Given the description of an element on the screen output the (x, y) to click on. 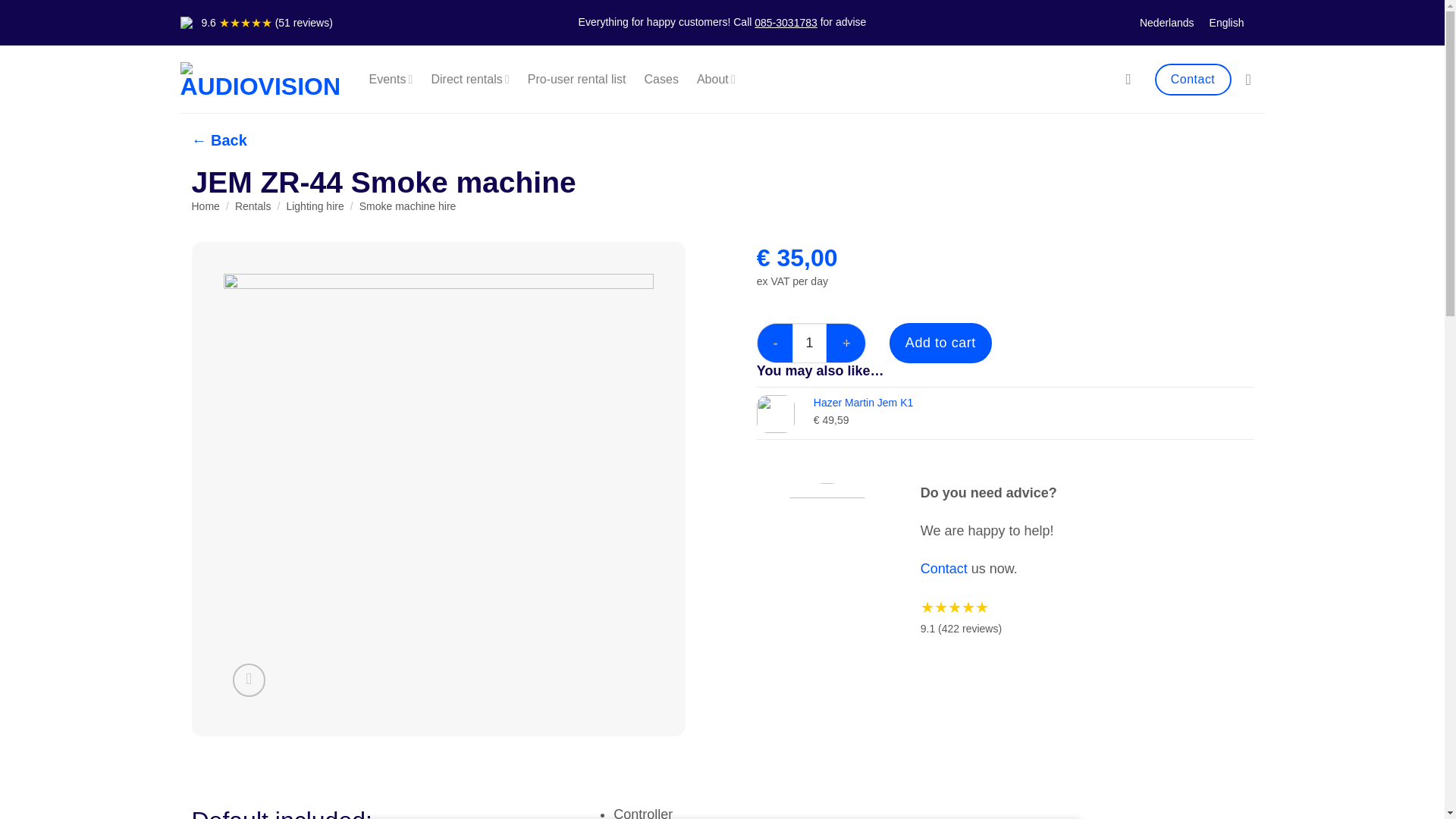
Hazer Martin Jem K1 (1033, 402)
Events (390, 79)
AudioVision - Vision on event technology (261, 79)
085-3031783 (785, 22)
Zoom (249, 679)
English (1227, 22)
Nederlands (1167, 22)
Direct rentals (469, 79)
